Given the description of an element on the screen output the (x, y) to click on. 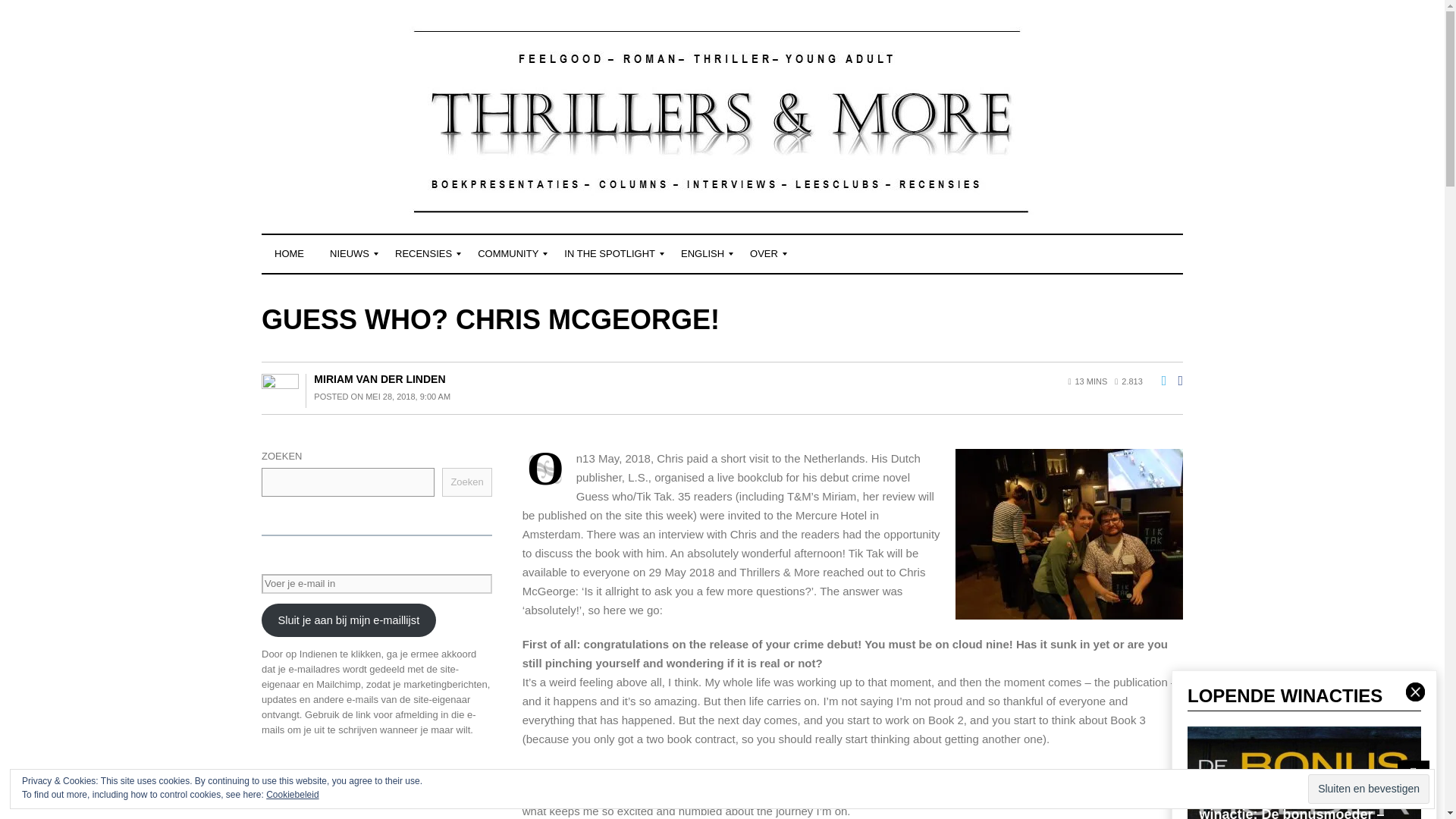
ENGLISH (702, 253)
Voer je e-mail in (377, 583)
Sluiten en bevestigen (1368, 788)
MIRIAM VAN DER LINDEN (379, 378)
COMMUNITY (507, 253)
HOME (289, 253)
OVER (763, 253)
Berichten van Miriam van der Linden (379, 378)
